Given the description of an element on the screen output the (x, y) to click on. 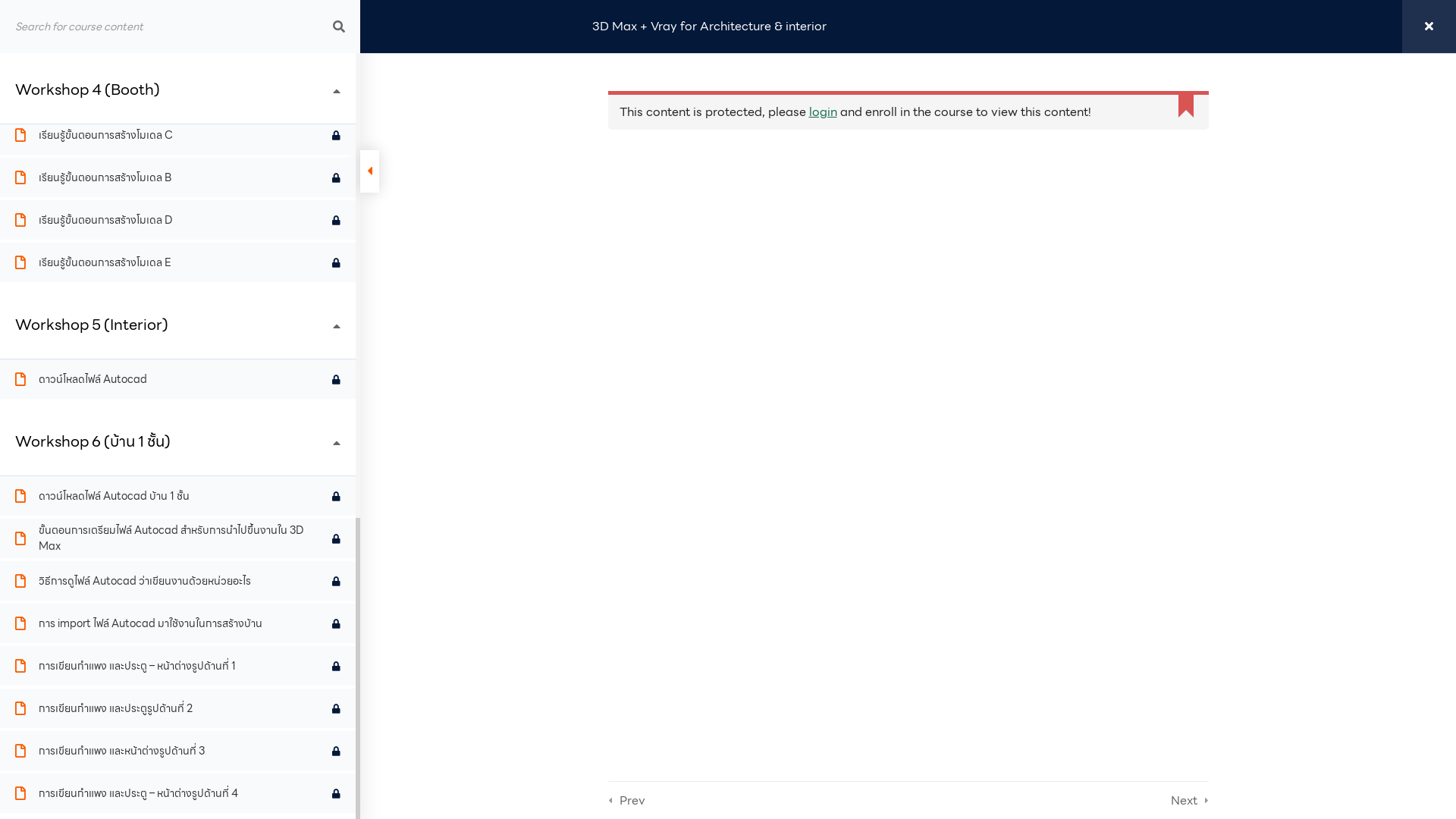
Refund Policy Element type: text (1171, 453)
Show/Hide curriculum Element type: hover (369, 171)
Unread Element type: hover (336, 379)
Unread Element type: hover (336, 177)
Product Design Element type: text (795, 285)
login Element type: text (822, 111)
Privacy Policy Element type: text (1084, 453)
Unread Element type: hover (336, 666)
Architecture & Interior Element type: text (795, 181)
Unread Element type: hover (336, 538)
Jewelry Design Element type: text (795, 259)
Unread Element type: hover (336, 581)
Unread Element type: hover (336, 92)
Kengweb.com Element type: text (534, 452)
Unread Element type: hover (336, 220)
Unread Element type: hover (336, 793)
Unread Element type: hover (336, 623)
3D Max + Vray for Architecture & interior Element type: text (709, 26)
Visual Effect Element type: text (795, 310)
Graphic Design Element type: text (795, 233)
SEND Element type: text (1160, 184)
Unread Element type: hover (336, 50)
Unread Element type: hover (336, 751)
3d-designcenter Element type: text (624, 285)
Unread Element type: hover (336, 262)
Engineering Element type: text (795, 207)
Unread Element type: hover (336, 708)
Unread Element type: hover (336, 135)
Unread Element type: hover (336, 496)
